Given the description of an element on the screen output the (x, y) to click on. 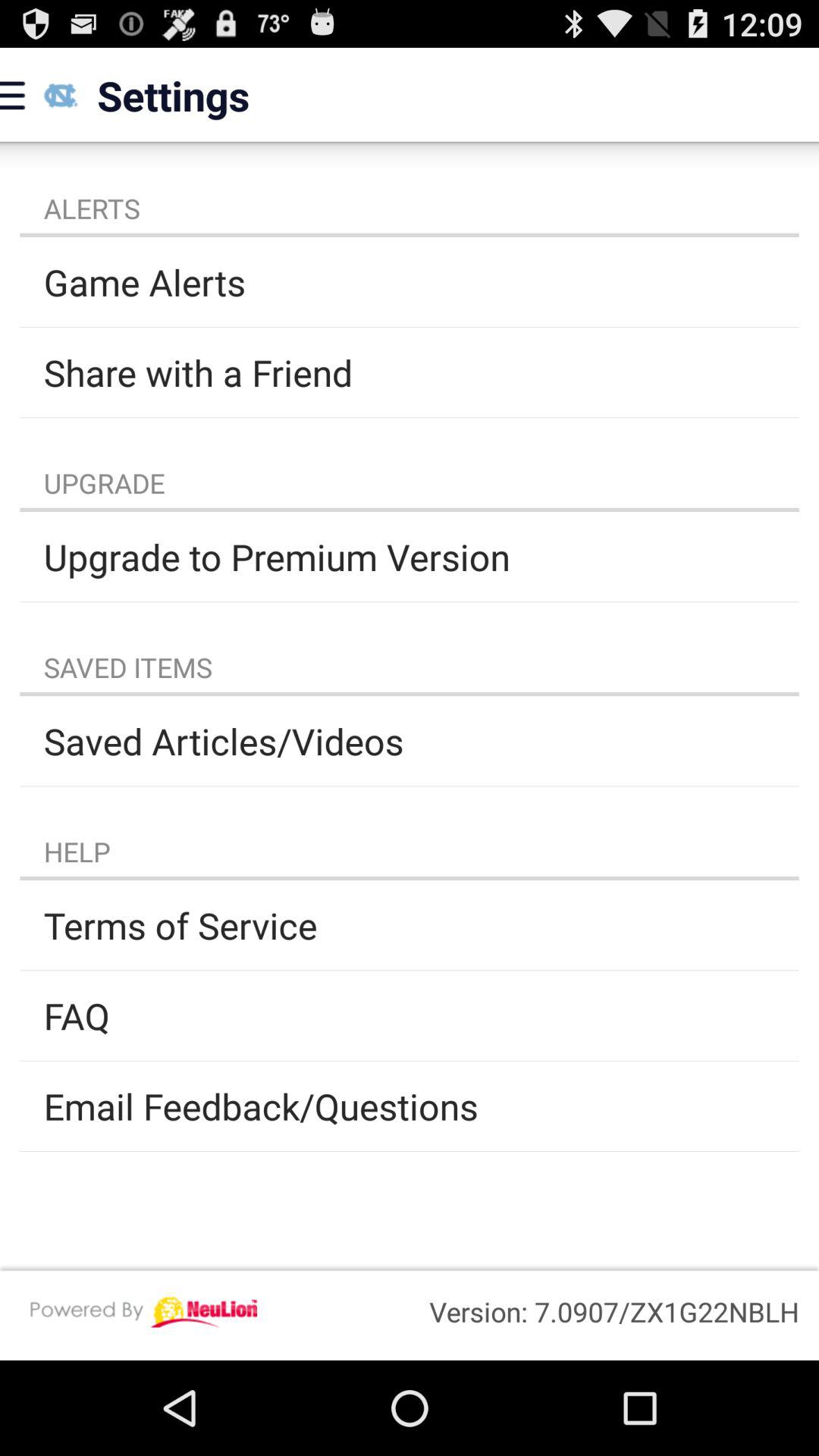
scroll to the saved articles/videos app (409, 741)
